Given the description of an element on the screen output the (x, y) to click on. 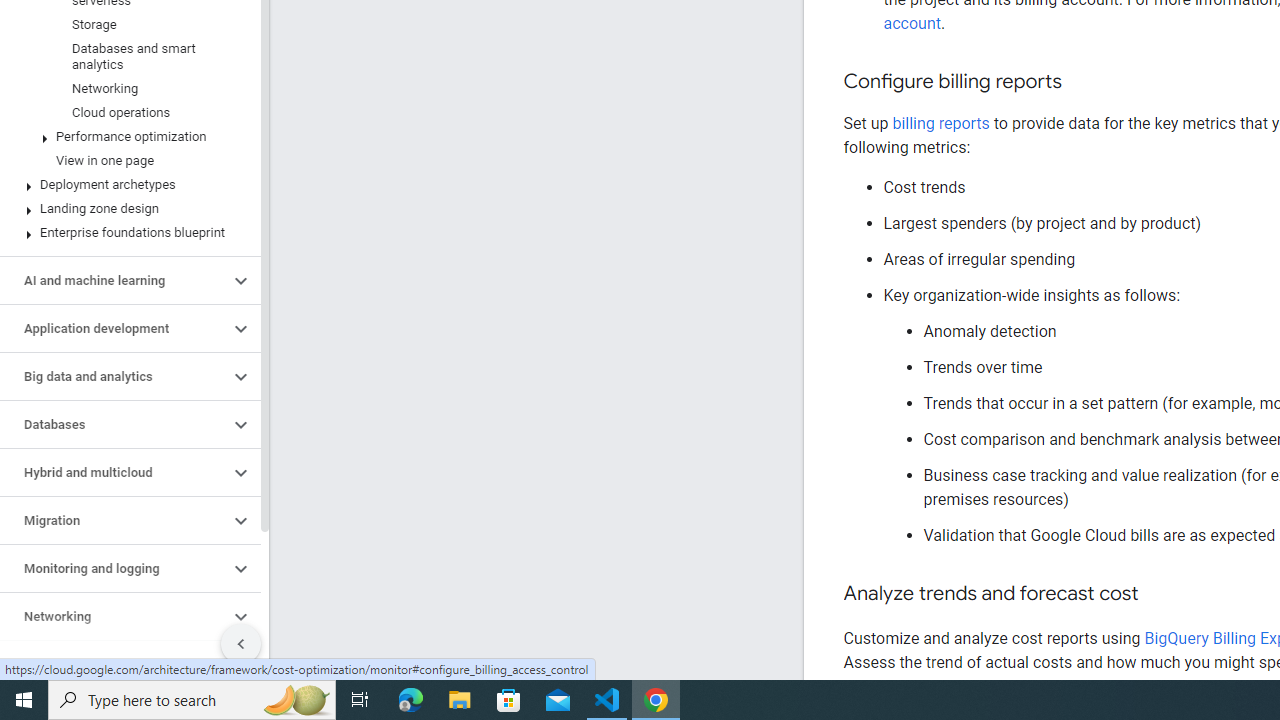
Big data and analytics (114, 376)
Copy link to this section: Configure billing reports (1081, 82)
Databases (114, 425)
Reliability and disaster recovery (114, 664)
Deployment archetypes (126, 184)
Copy link to this section: Analyze trends and forecast cost (1157, 593)
AI and machine learning (114, 281)
